Given the description of an element on the screen output the (x, y) to click on. 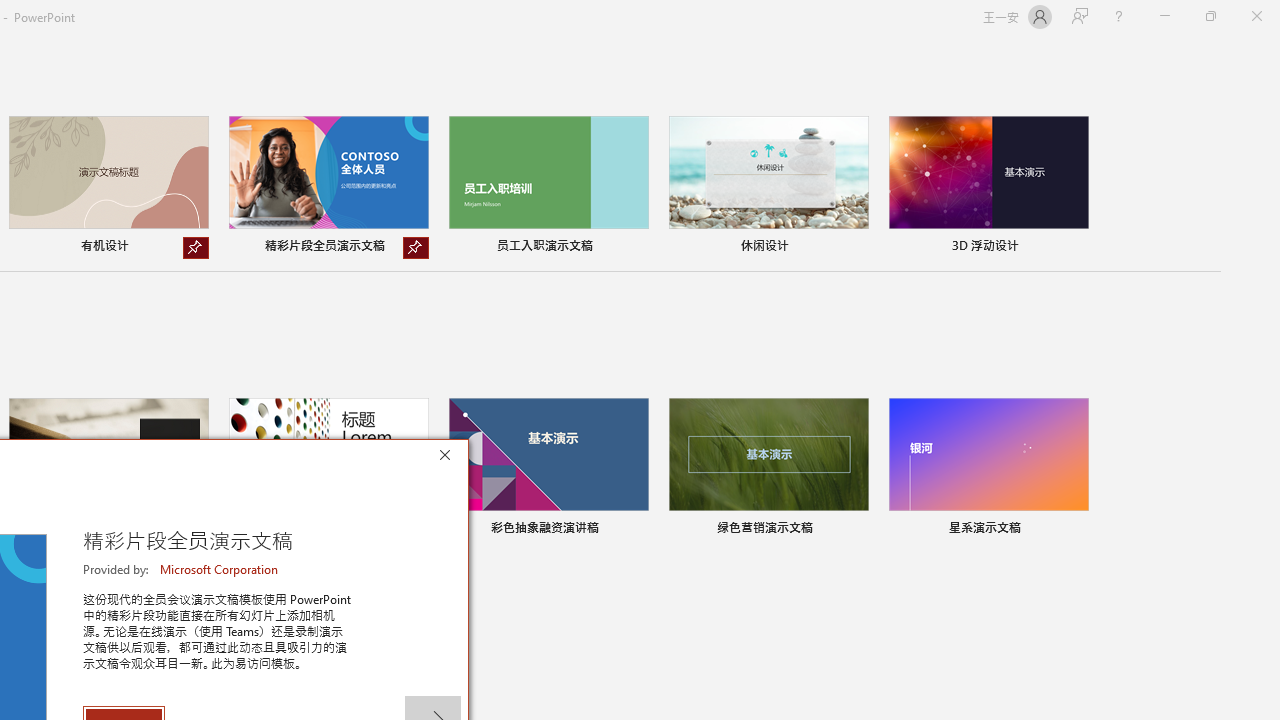
Microsoft Corporation (220, 569)
Unpin from list (415, 247)
Pin to list (1075, 529)
